Given the description of an element on the screen output the (x, y) to click on. 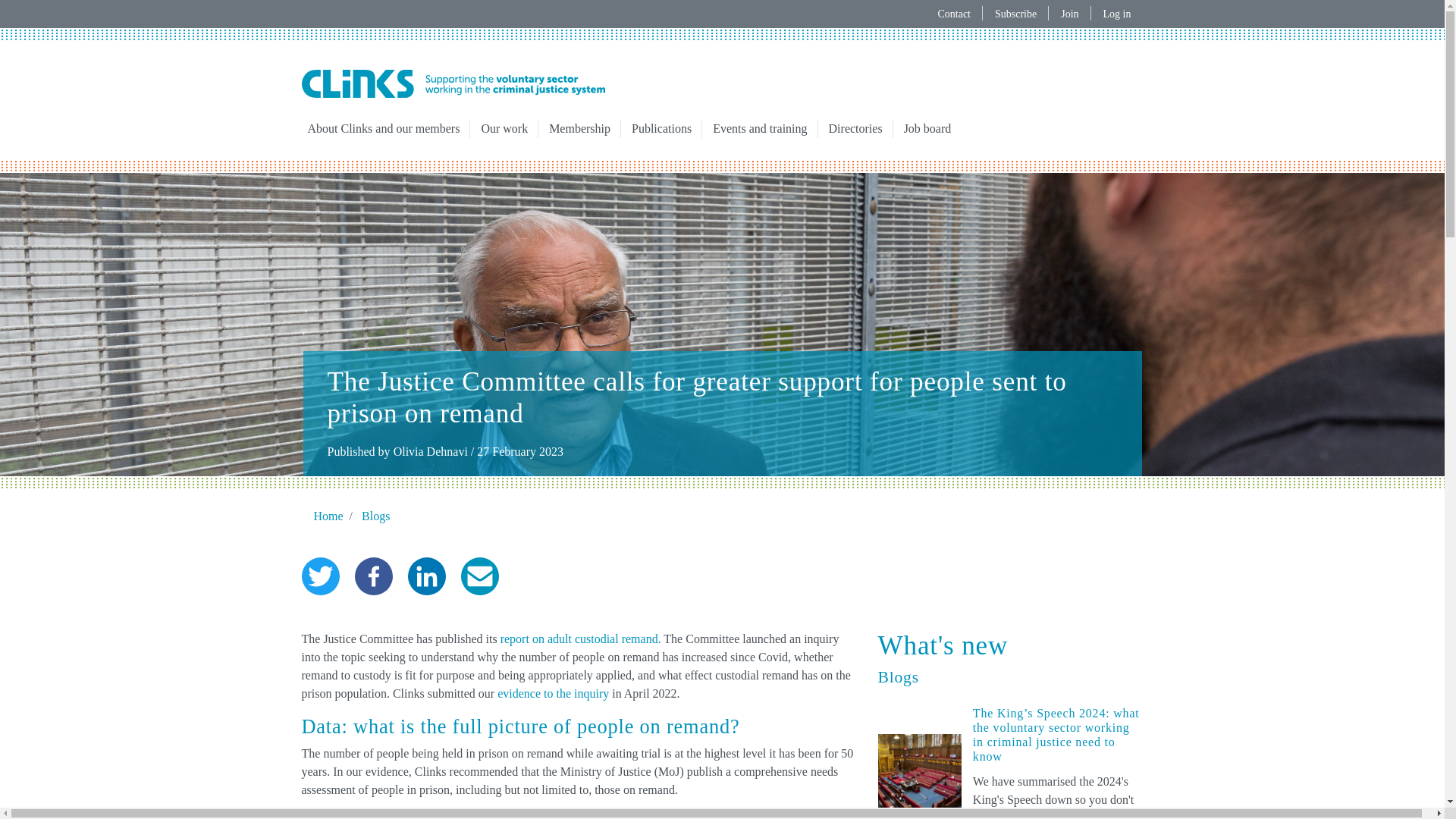
Directories (855, 128)
report on adult custodial remand. (580, 638)
Subscribe (1015, 13)
Publications (661, 128)
Events and training (759, 128)
Our work (504, 128)
Join (1069, 13)
Blogs (375, 515)
Events listings (759, 128)
evidence to the inquiry (552, 693)
About Clinks and our members (383, 128)
Job board (928, 128)
Home (453, 83)
Log in (1116, 13)
